Given the description of an element on the screen output the (x, y) to click on. 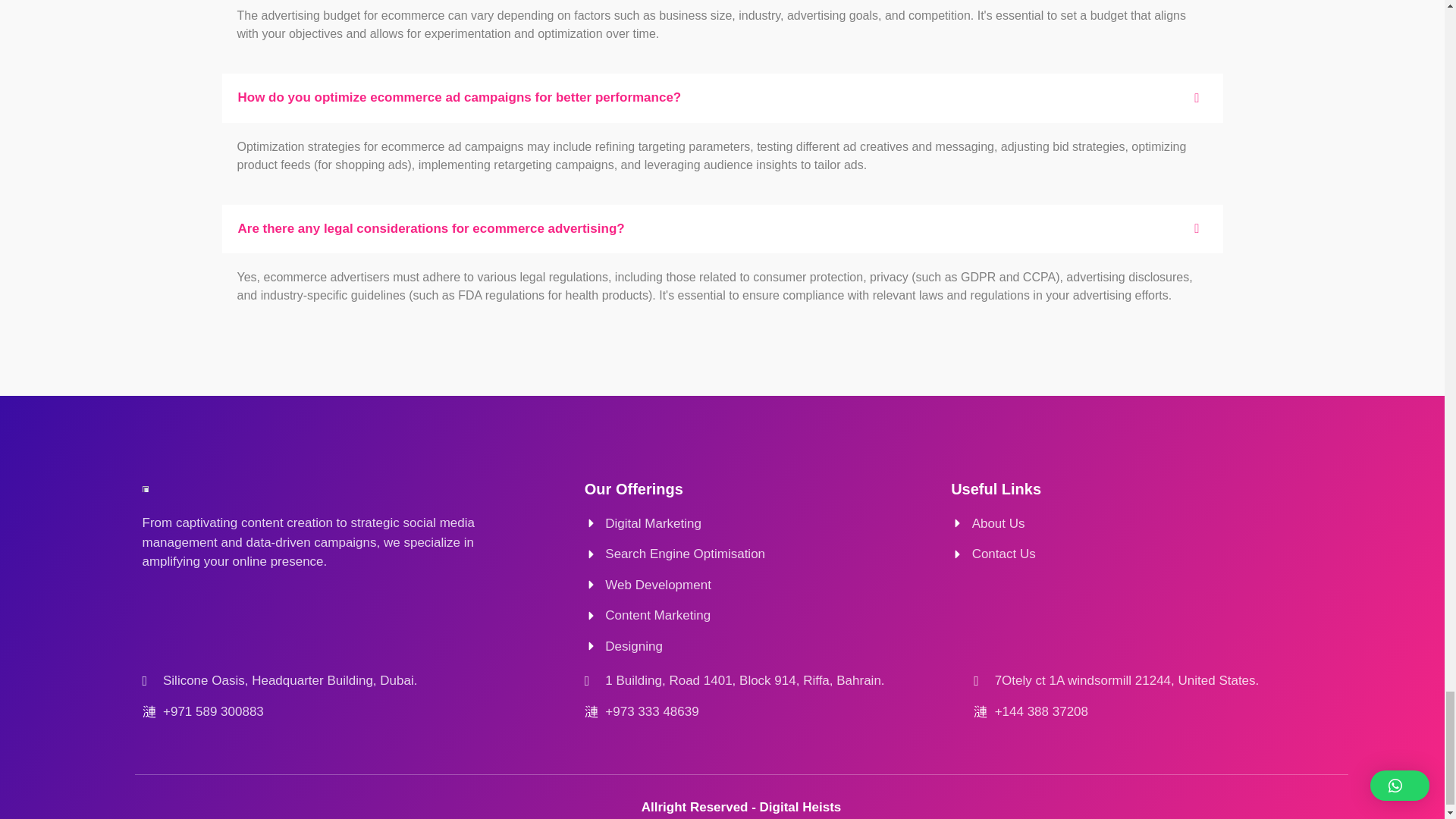
Digital Marketing (760, 523)
